Given the description of an element on the screen output the (x, y) to click on. 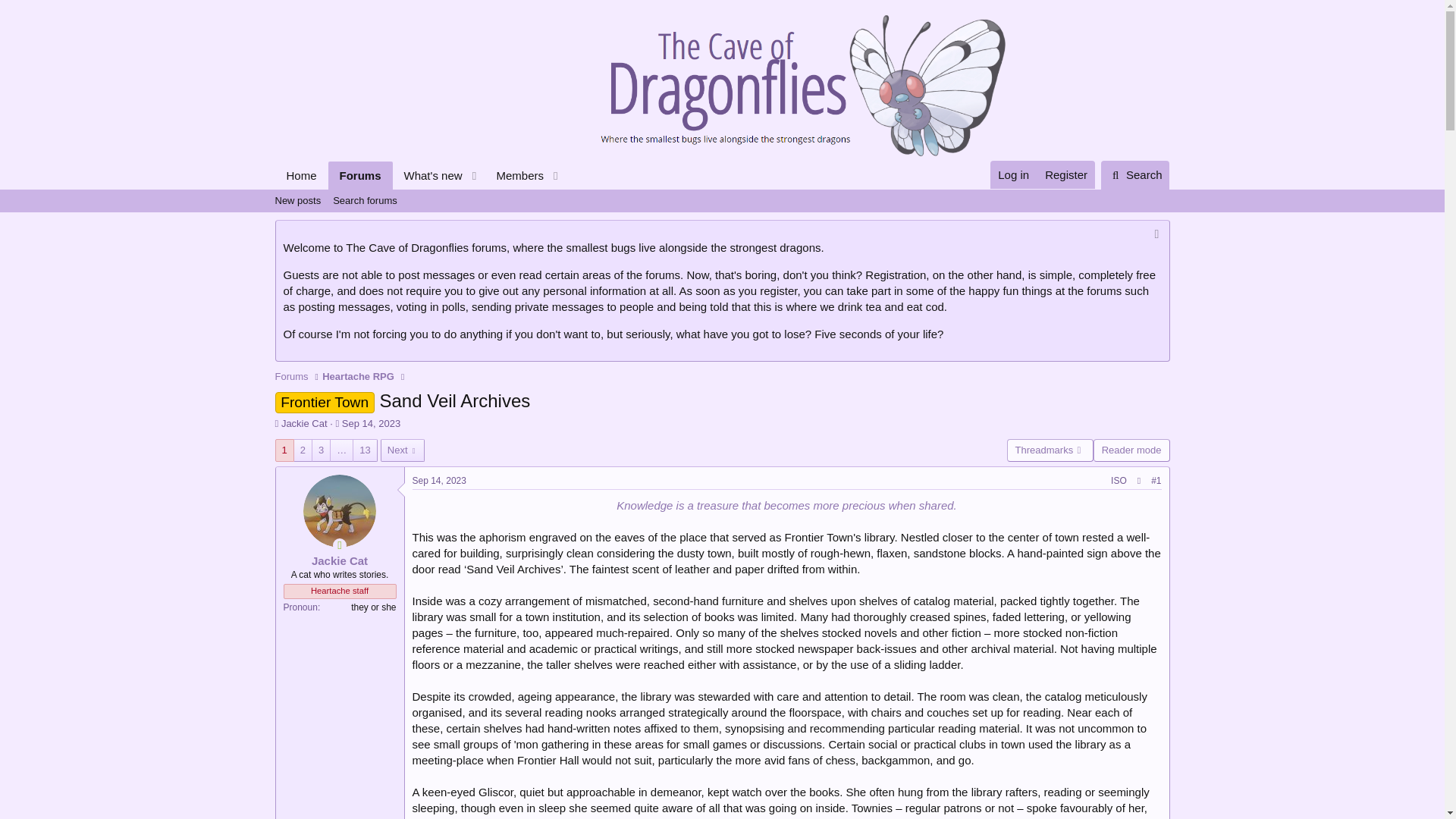
Sep 14, 2023 at 11:08 AM (438, 480)
What's new (419, 175)
Isolate Jackie Cat's posts (428, 175)
Search (1118, 480)
Jackie Cat (1135, 174)
New posts (304, 423)
Sep 14, 2023 at 11:08 AM (296, 200)
Heartache RPG (371, 423)
Search forums (357, 376)
Members (364, 200)
Search (419, 192)
Log in (514, 175)
